Given the description of an element on the screen output the (x, y) to click on. 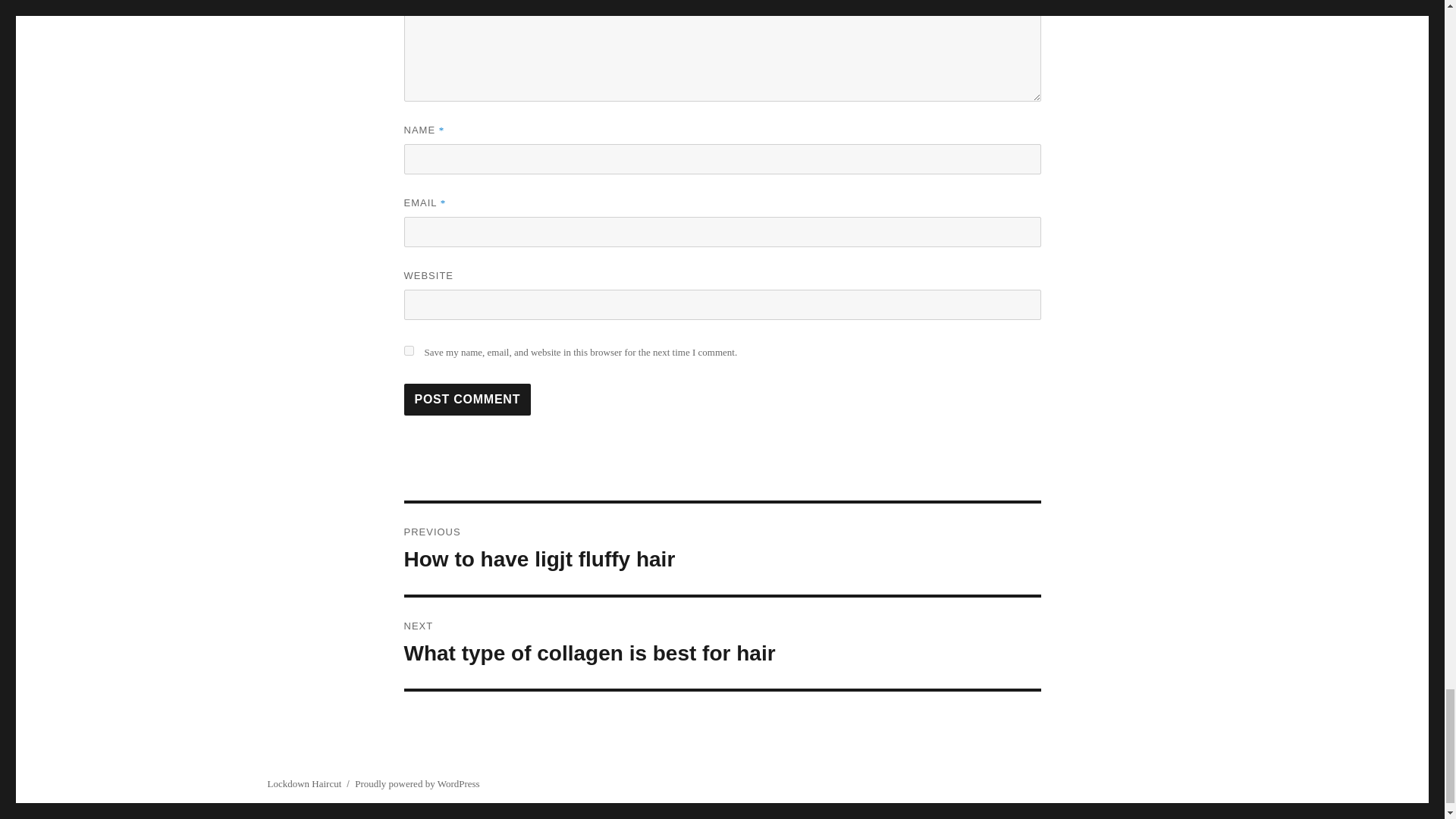
Post Comment (467, 399)
Proudly powered by WordPress (417, 783)
Lockdown Haircut (303, 783)
yes (722, 642)
Post Comment (408, 350)
